Given the description of an element on the screen output the (x, y) to click on. 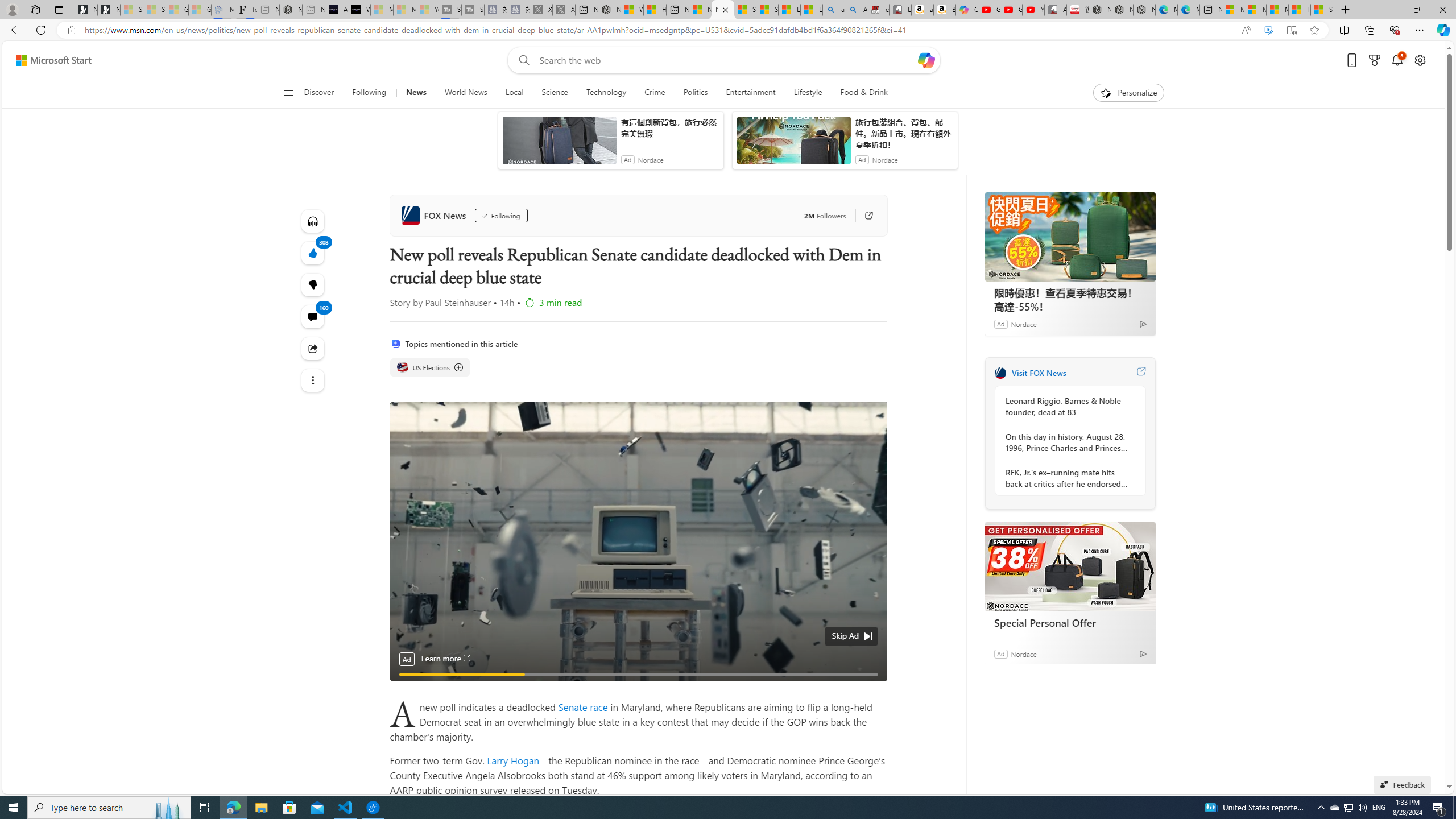
World News (465, 92)
Local (514, 92)
Special Personal Offer (1070, 566)
